Given the description of an element on the screen output the (x, y) to click on. 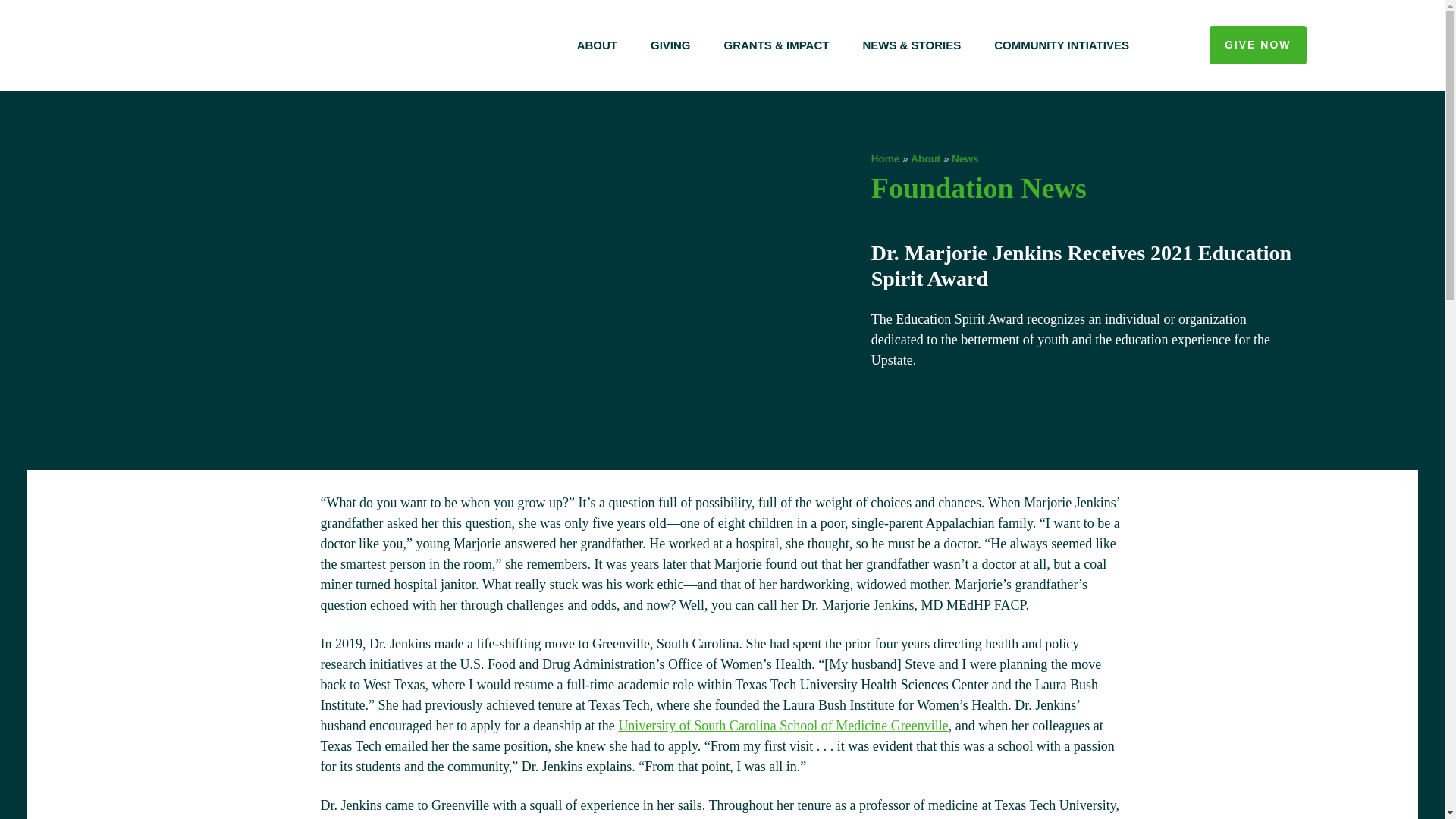
GIVING (670, 45)
Community Foundation of Greenville (323, 45)
ABOUT (596, 45)
